Given the description of an element on the screen output the (x, y) to click on. 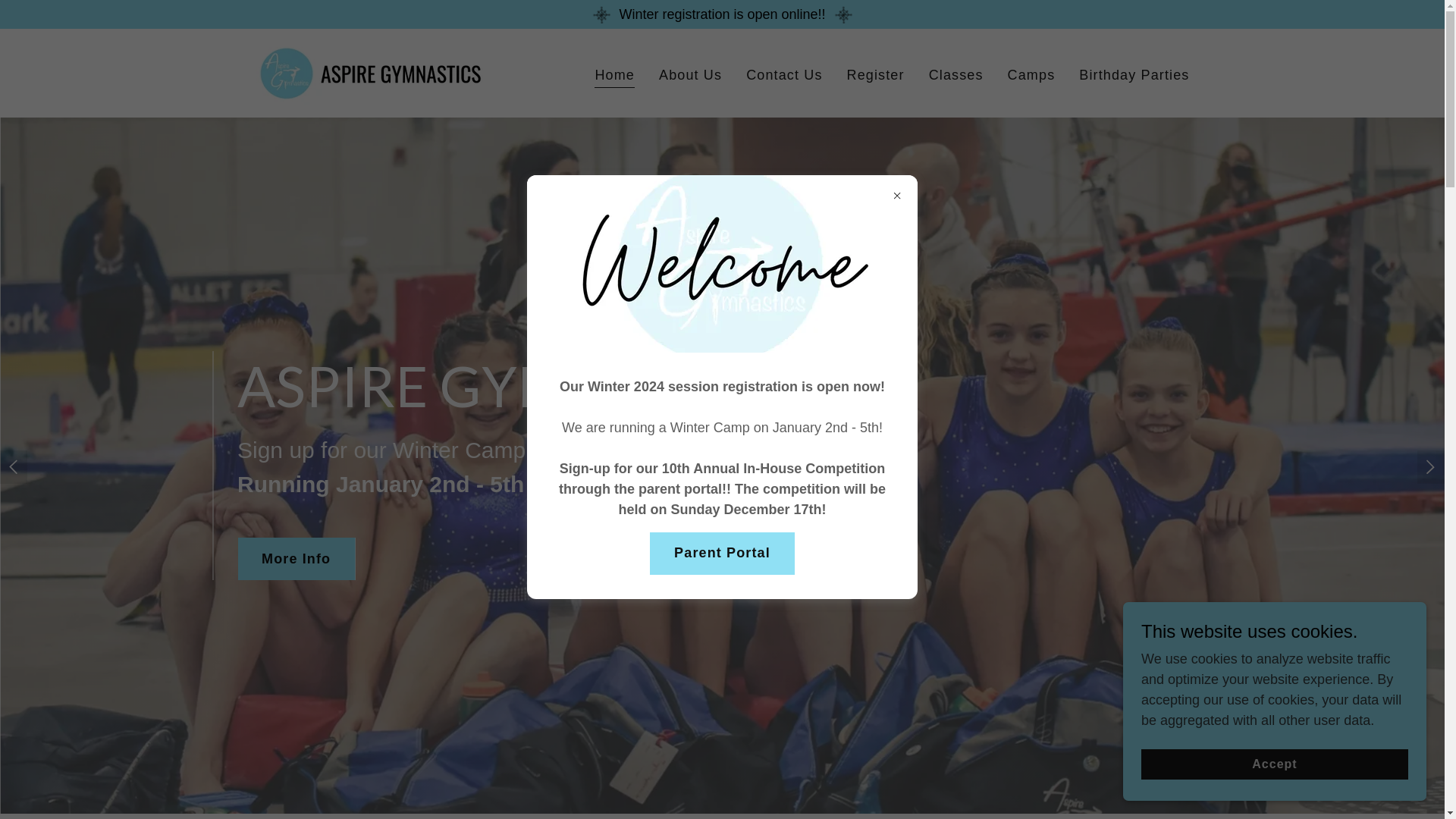
Camps Element type: text (1031, 74)
Home Element type: text (614, 76)
Classes Element type: text (956, 74)
Register Element type: text (875, 74)
More Info Element type: text (295, 558)
Accept Element type: text (1274, 764)
Parent Portal Element type: text (721, 553)
Birthday Parties Element type: text (1133, 74)
About Us Element type: text (690, 74)
Aspire Gymnastics Element type: hover (370, 71)
Contact Us Element type: text (783, 74)
